Given the description of an element on the screen output the (x, y) to click on. 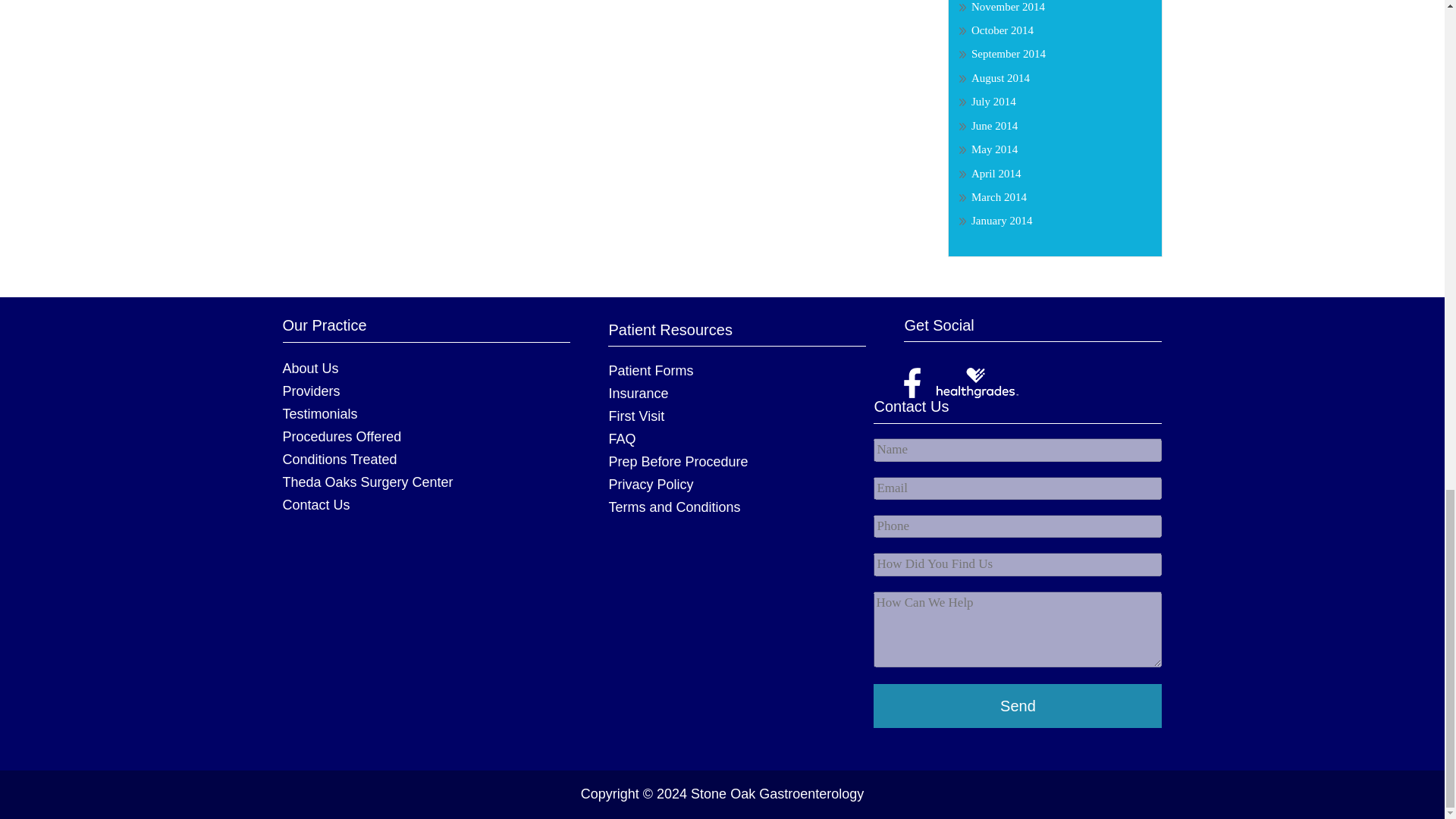
Send (1017, 705)
